Given the description of an element on the screen output the (x, y) to click on. 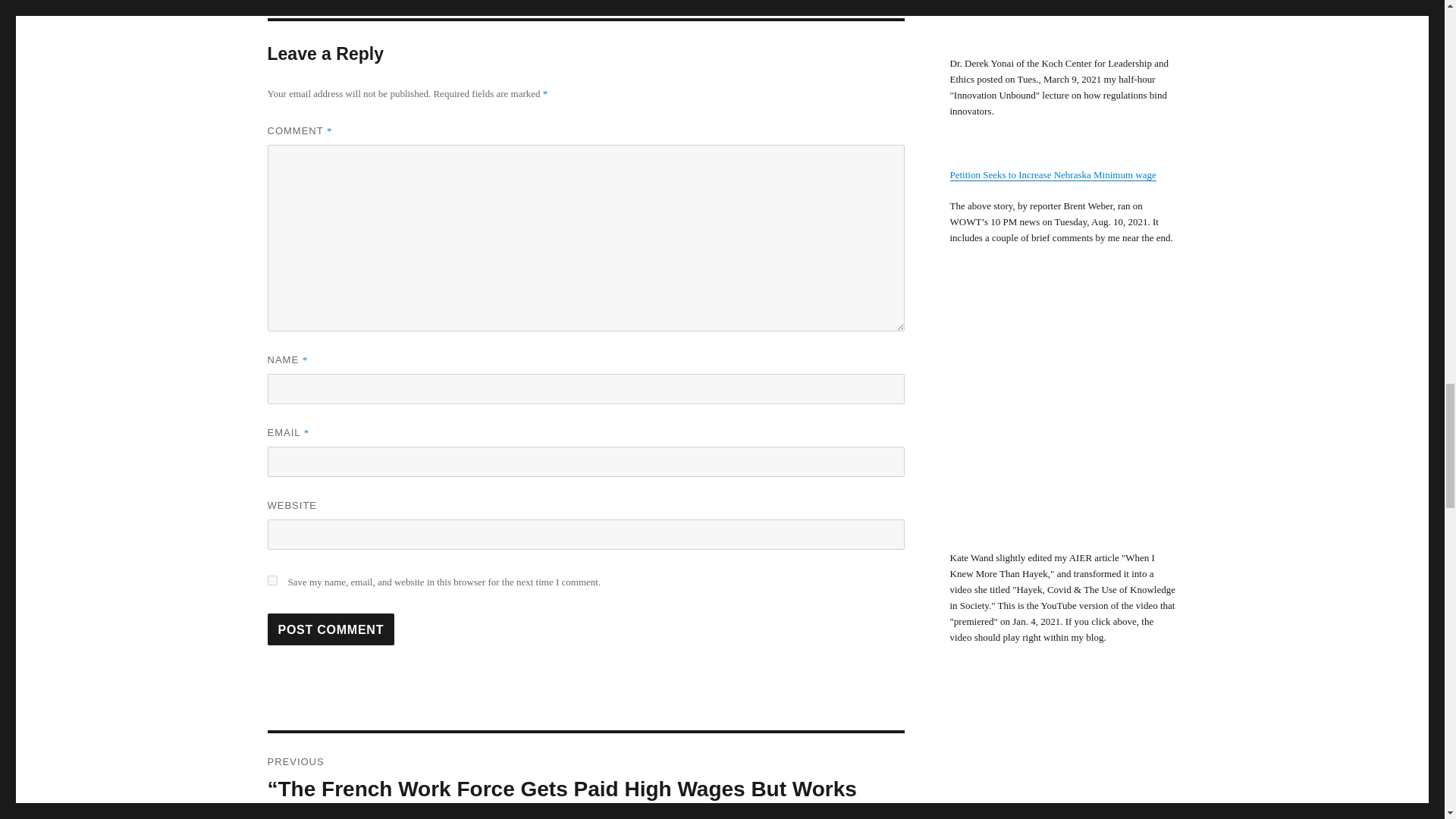
yes (271, 580)
Petition Seeks to Increase Nebraska Minimum wage (1052, 173)
Post Comment (330, 629)
Post Comment (330, 629)
